Given the description of an element on the screen output the (x, y) to click on. 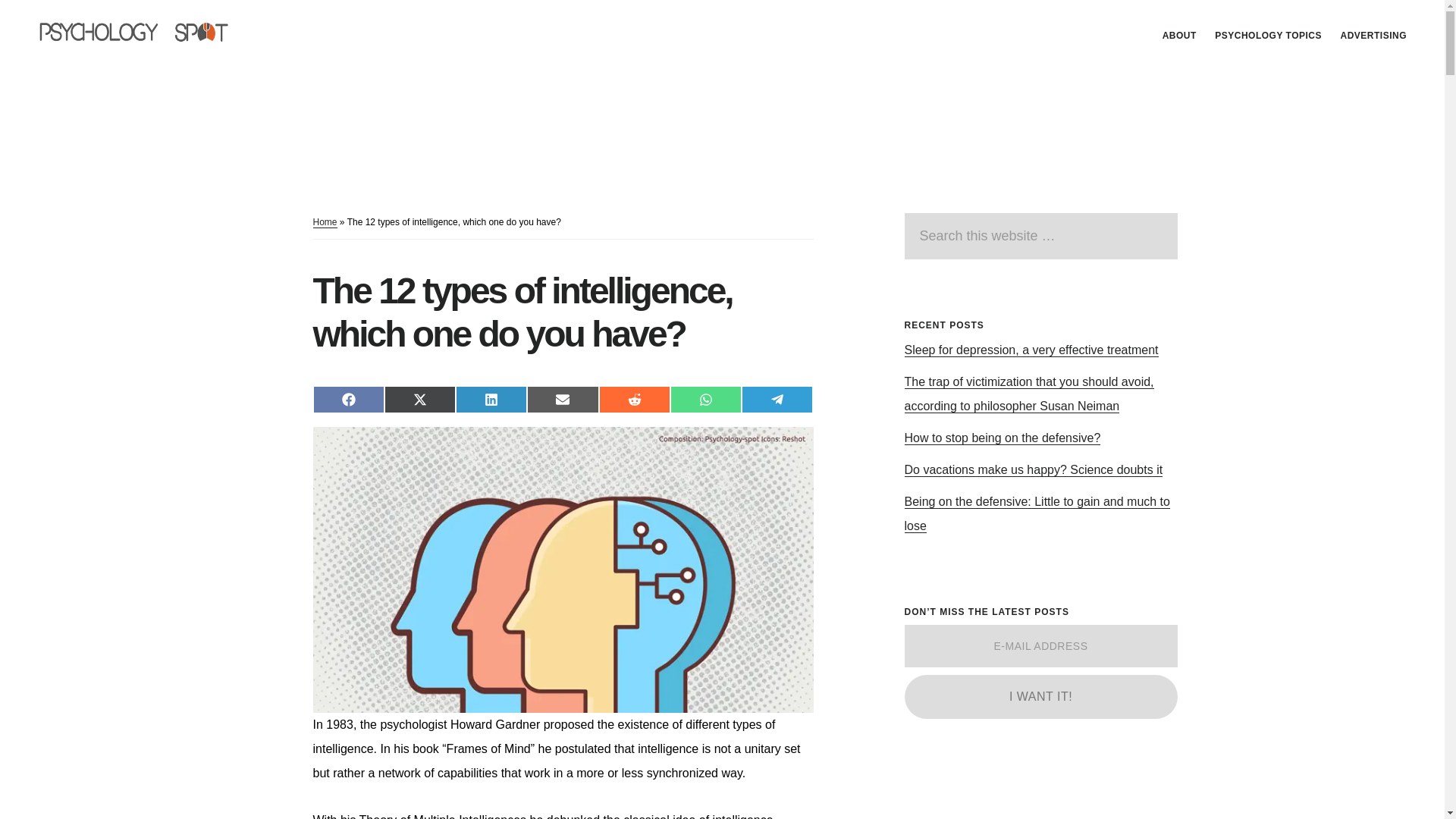
SHARE ON TELEGRAM (776, 399)
ADVERTISING (1372, 35)
I Want It! (1040, 696)
SHARE ON FACEBOOK (348, 399)
SHARE ON EMAIL (562, 399)
SHARE ON LINKEDIN (491, 399)
ABOUT (1179, 35)
PSYCHOLOGY TOPICS (1268, 35)
SHARE ON WHATSAPP (705, 399)
Home (324, 222)
